Given the description of an element on the screen output the (x, y) to click on. 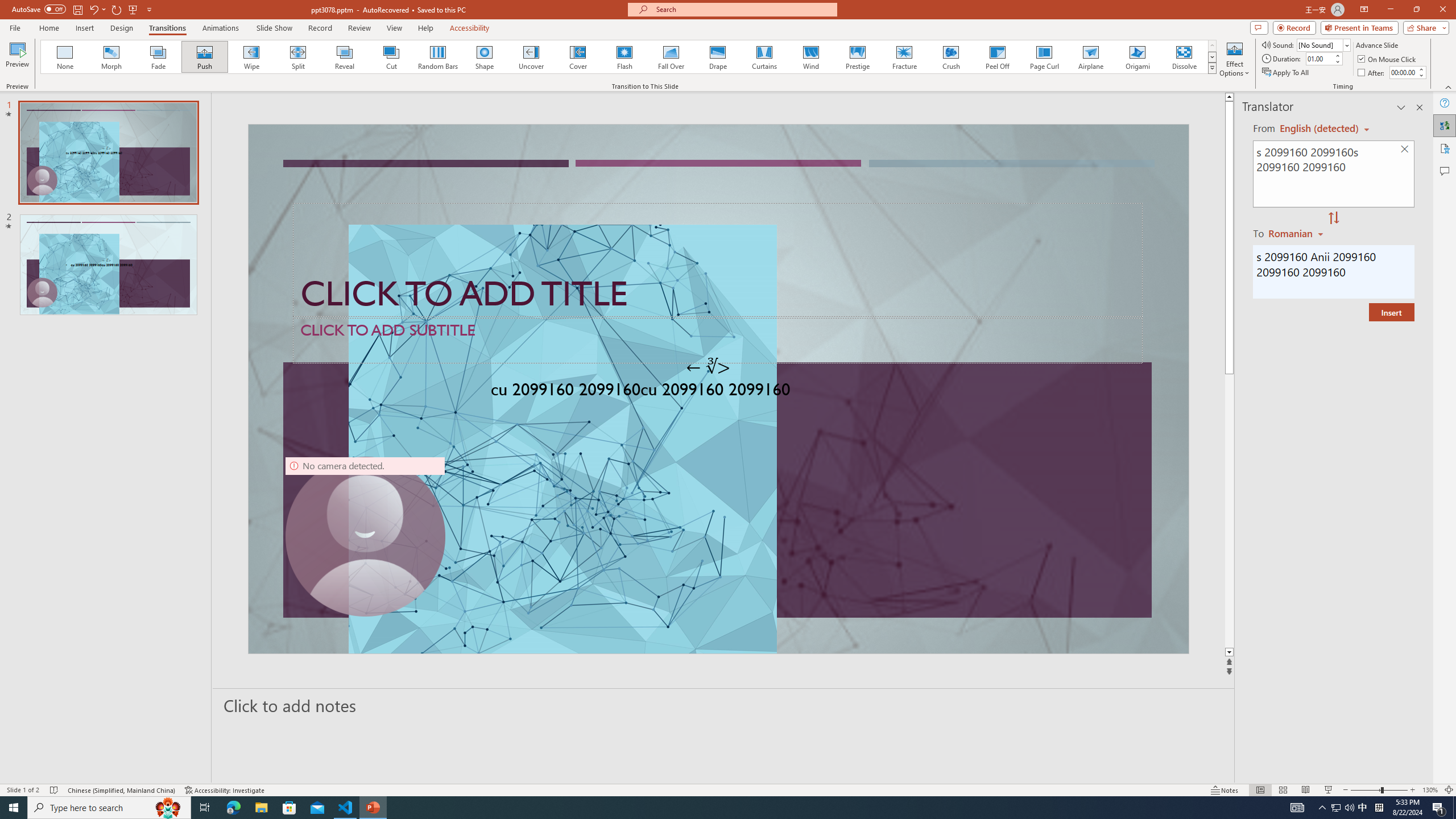
After (1372, 72)
Wind (810, 56)
Curtains (764, 56)
Apply To All (1286, 72)
Split (298, 56)
Origami (1136, 56)
Czech (detected) (1319, 128)
